Given the description of an element on the screen output the (x, y) to click on. 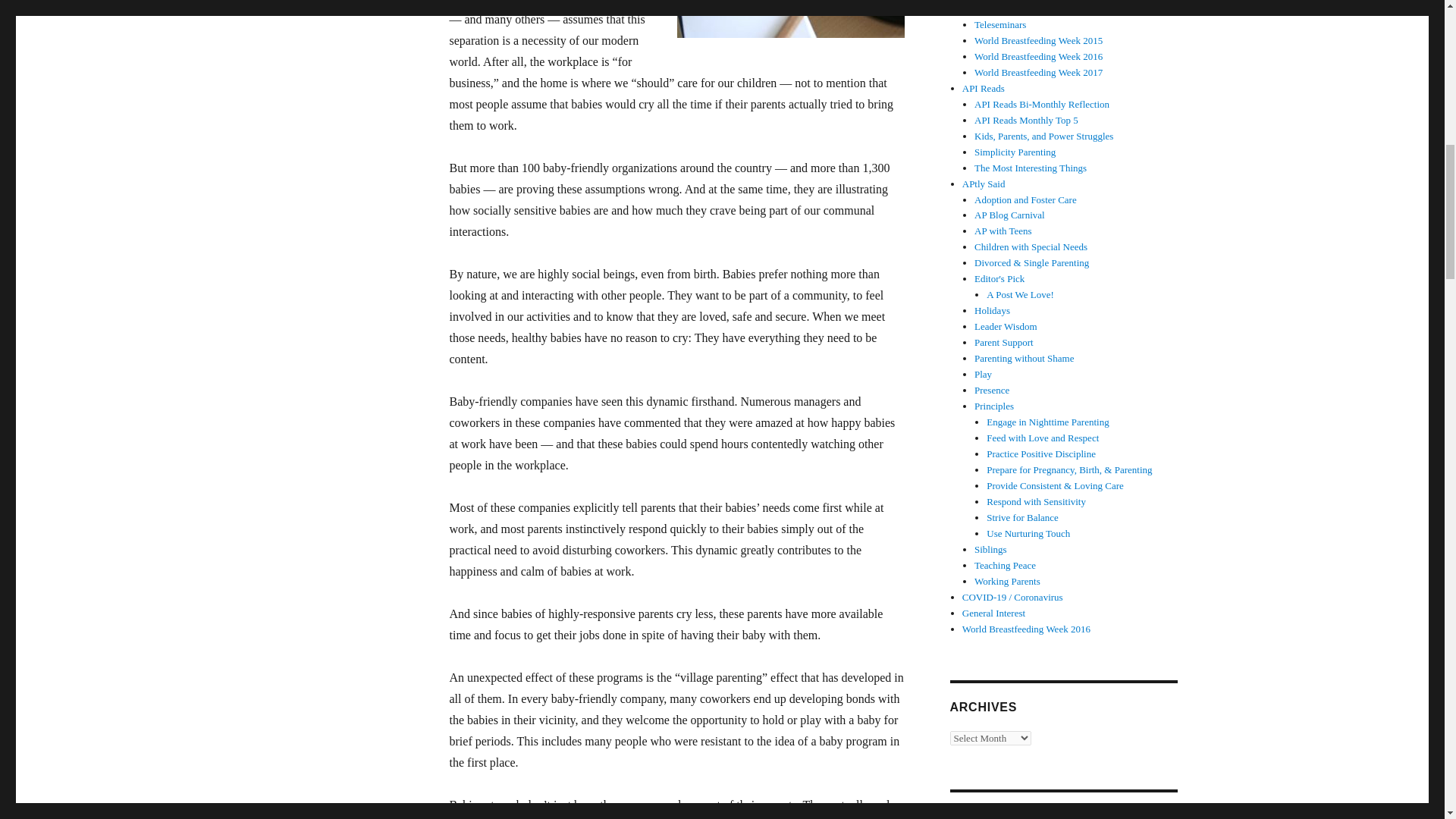
Reading of the book "Kids, Parents, and Power Struggles". (1043, 135)
